Given the description of an element on the screen output the (x, y) to click on. 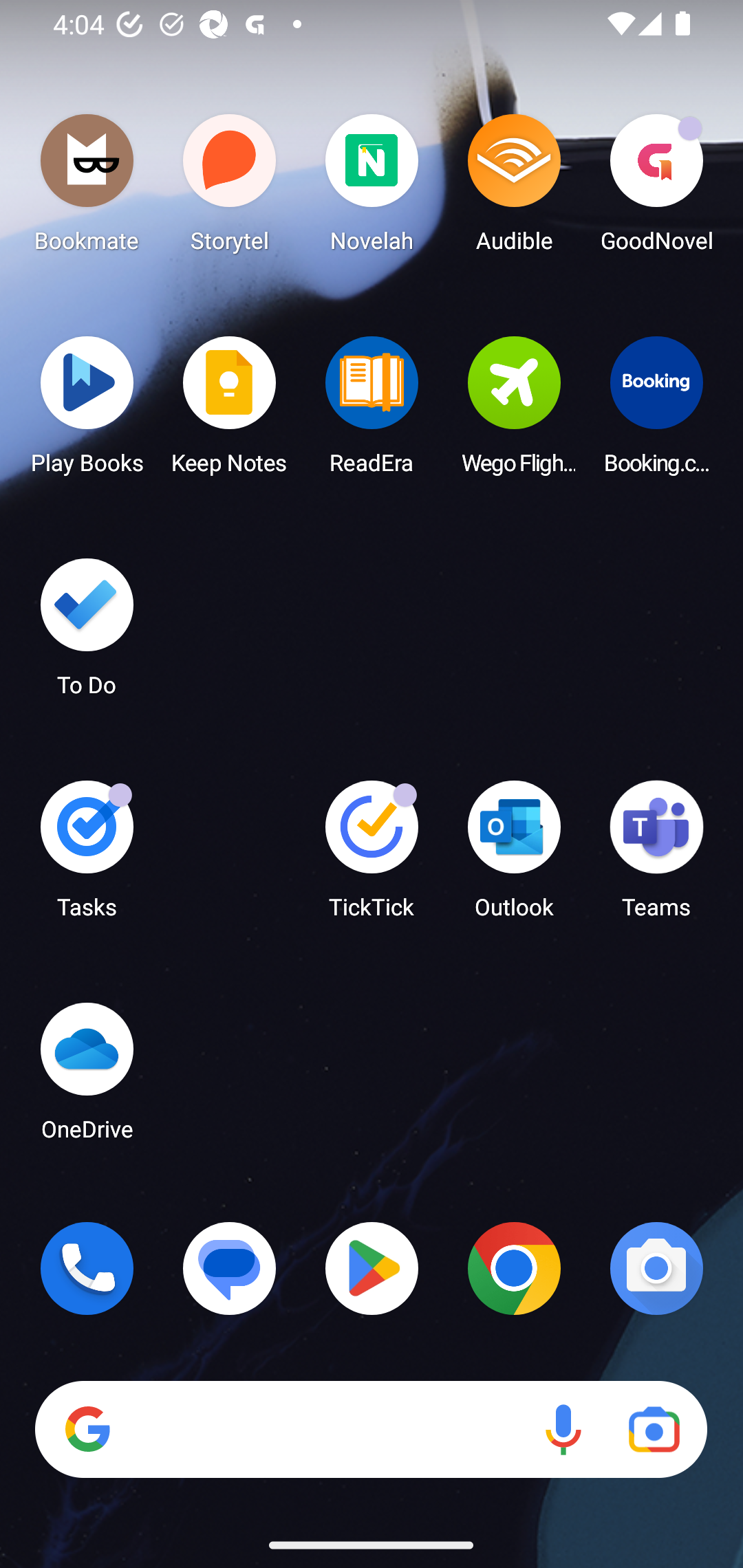
Bookmate (86, 188)
Storytel (229, 188)
Novelah (371, 188)
Audible (513, 188)
GoodNovel GoodNovel has 1 notification (656, 188)
Play Books (86, 410)
Keep Notes (229, 410)
ReadEra (371, 410)
Wego Flights & Hotels (513, 410)
Booking.com (656, 410)
To Do (86, 633)
Tasks Tasks has 1 notification (86, 854)
TickTick TickTick has 3 notifications (371, 854)
Outlook (513, 854)
Teams (656, 854)
OneDrive (86, 1076)
Phone (86, 1268)
Messages (229, 1268)
Play Store (371, 1268)
Chrome (513, 1268)
Camera (656, 1268)
Search Voice search Google Lens (370, 1429)
Voice search (562, 1429)
Google Lens (653, 1429)
